Given the description of an element on the screen output the (x, y) to click on. 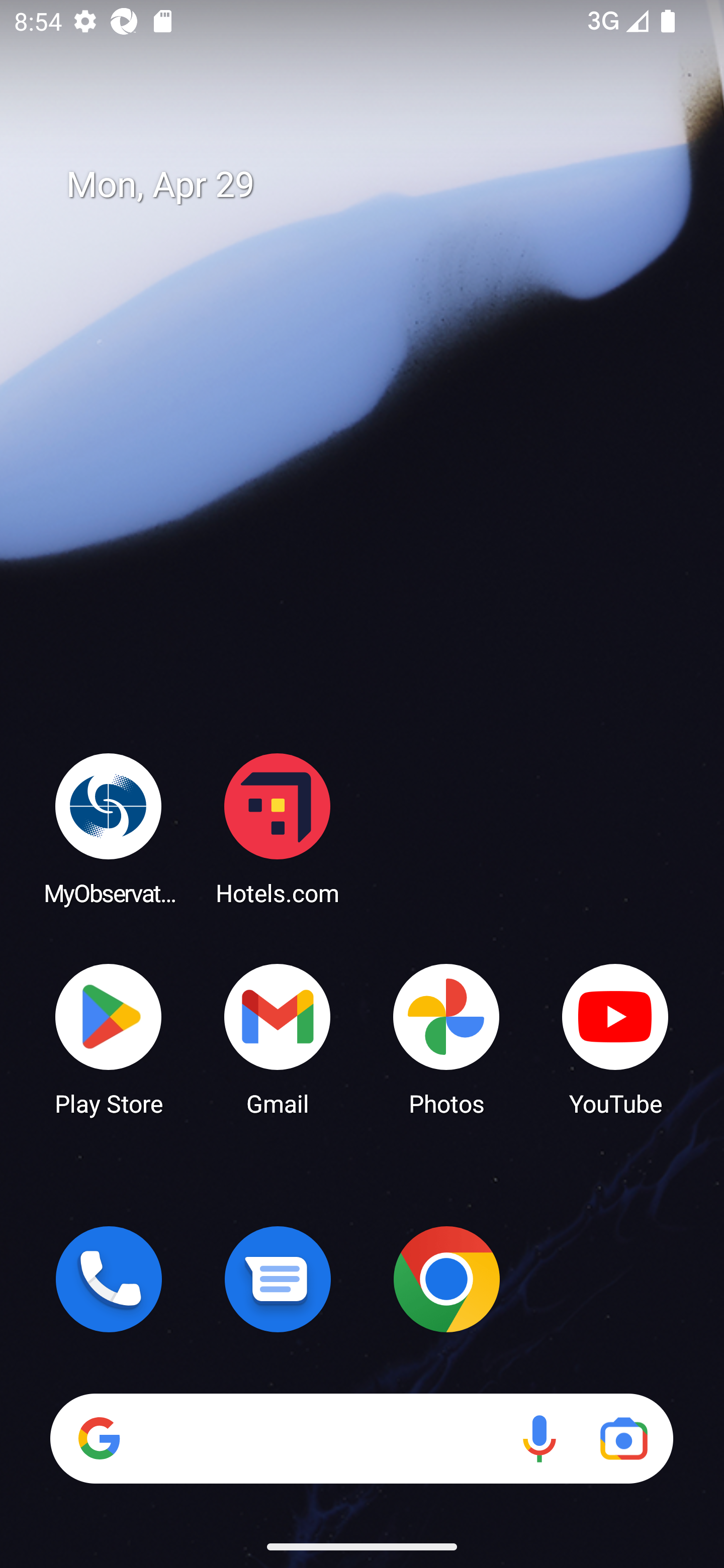
Mon, Apr 29 (375, 184)
MyObservatory (108, 828)
Hotels.com (277, 828)
Play Store (108, 1038)
Gmail (277, 1038)
Photos (445, 1038)
YouTube (615, 1038)
Phone (108, 1279)
Messages (277, 1279)
Chrome (446, 1279)
Search Voice search Google Lens (361, 1438)
Voice search (539, 1438)
Google Lens (623, 1438)
